Given the description of an element on the screen output the (x, y) to click on. 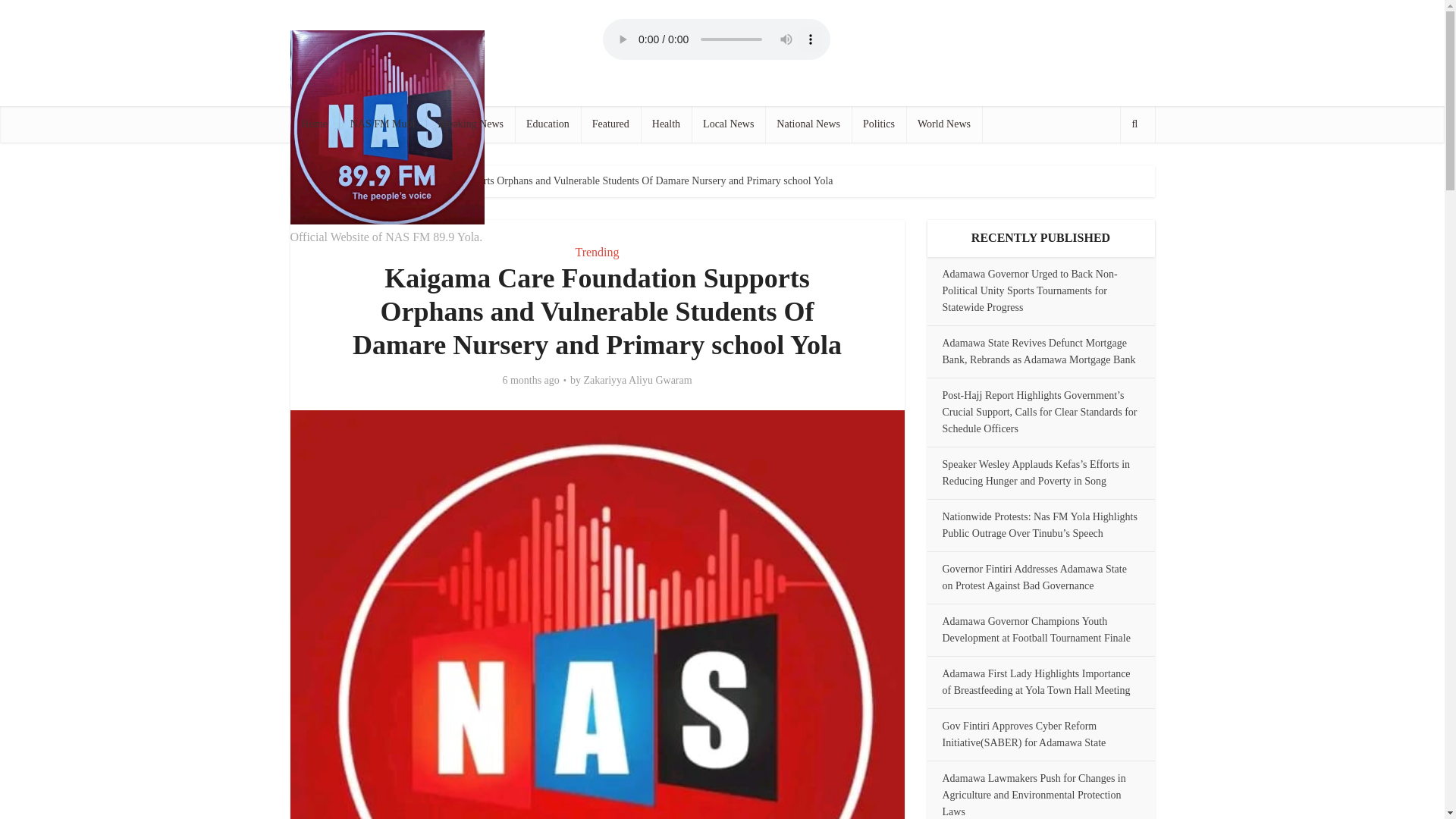
Local News (728, 124)
Politics (878, 124)
Zakariyya Aliyu Gwaram (638, 380)
Home (317, 179)
Health (665, 124)
National News (808, 124)
Featured (610, 124)
World News (943, 124)
Trending (596, 251)
Home (313, 124)
